Given the description of an element on the screen output the (x, y) to click on. 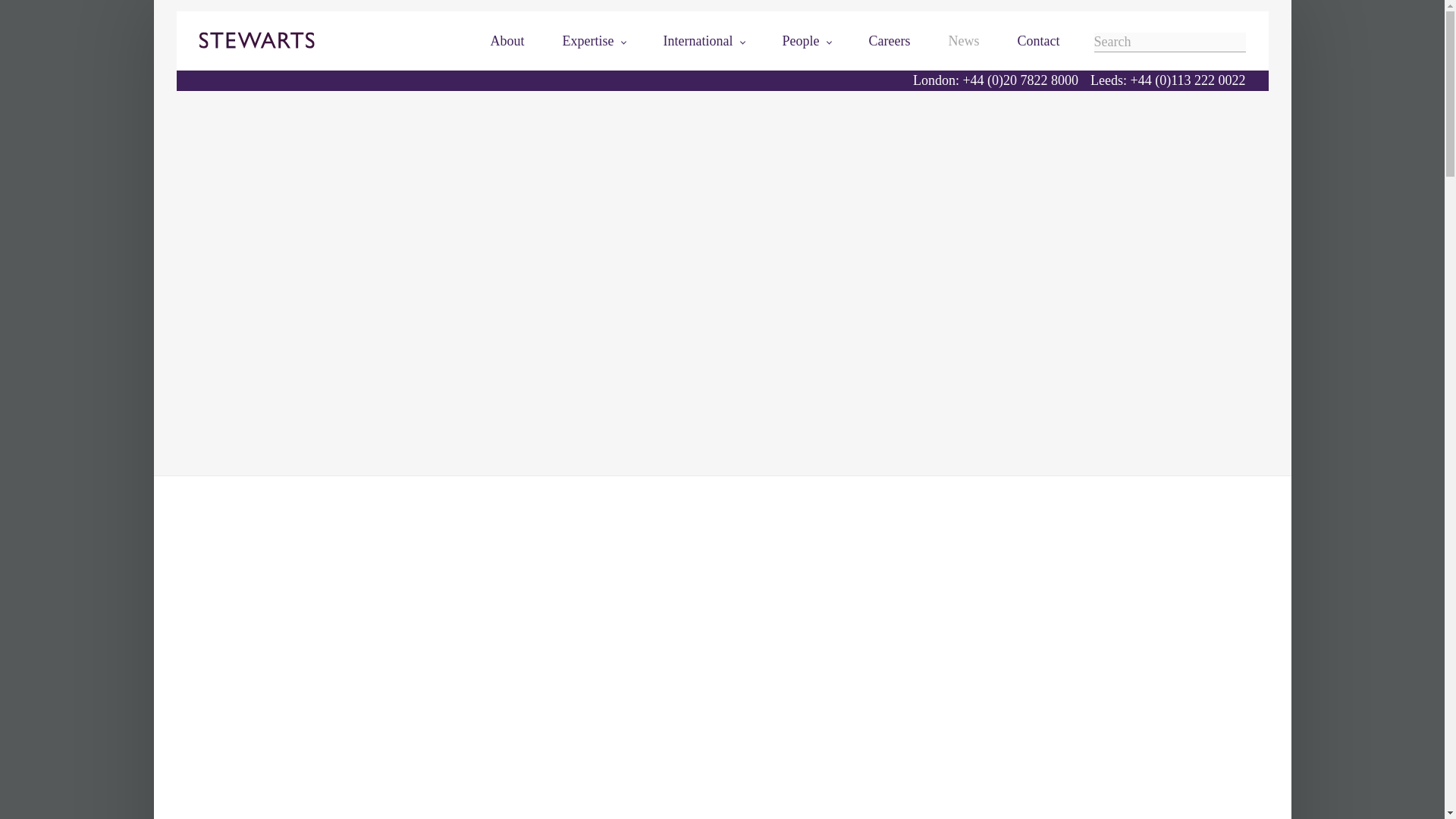
Expertise (594, 41)
News (964, 41)
About (507, 41)
International (703, 41)
People (806, 41)
Careers (890, 41)
